Given the description of an element on the screen output the (x, y) to click on. 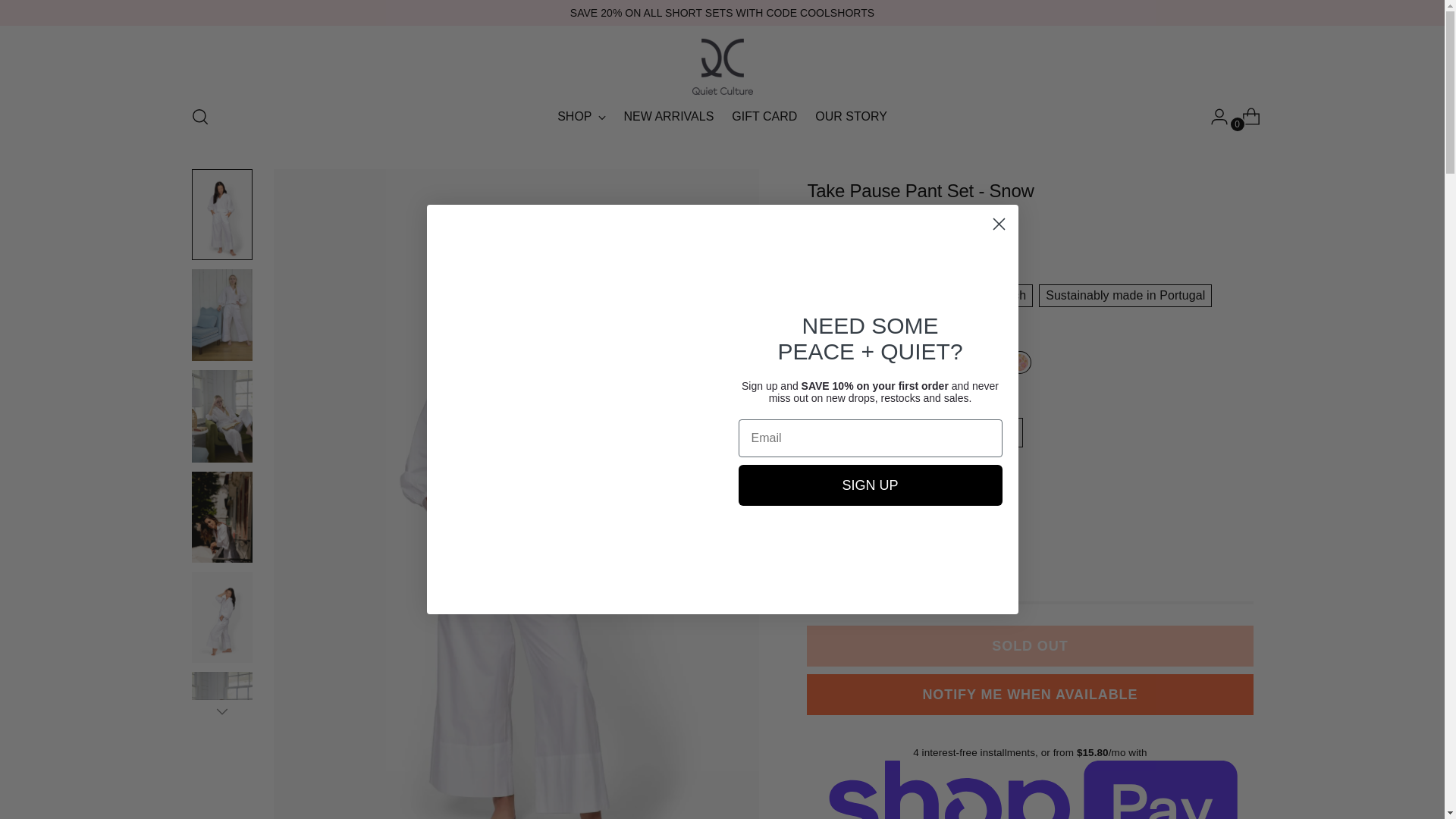
NEW ARRIVALS (668, 116)
OUR STORY (722, 116)
Down (850, 116)
1 (220, 711)
Close dialog 1 (843, 537)
SHOP (998, 223)
GIFT CARD (581, 116)
0 (764, 116)
